Given the description of an element on the screen output the (x, y) to click on. 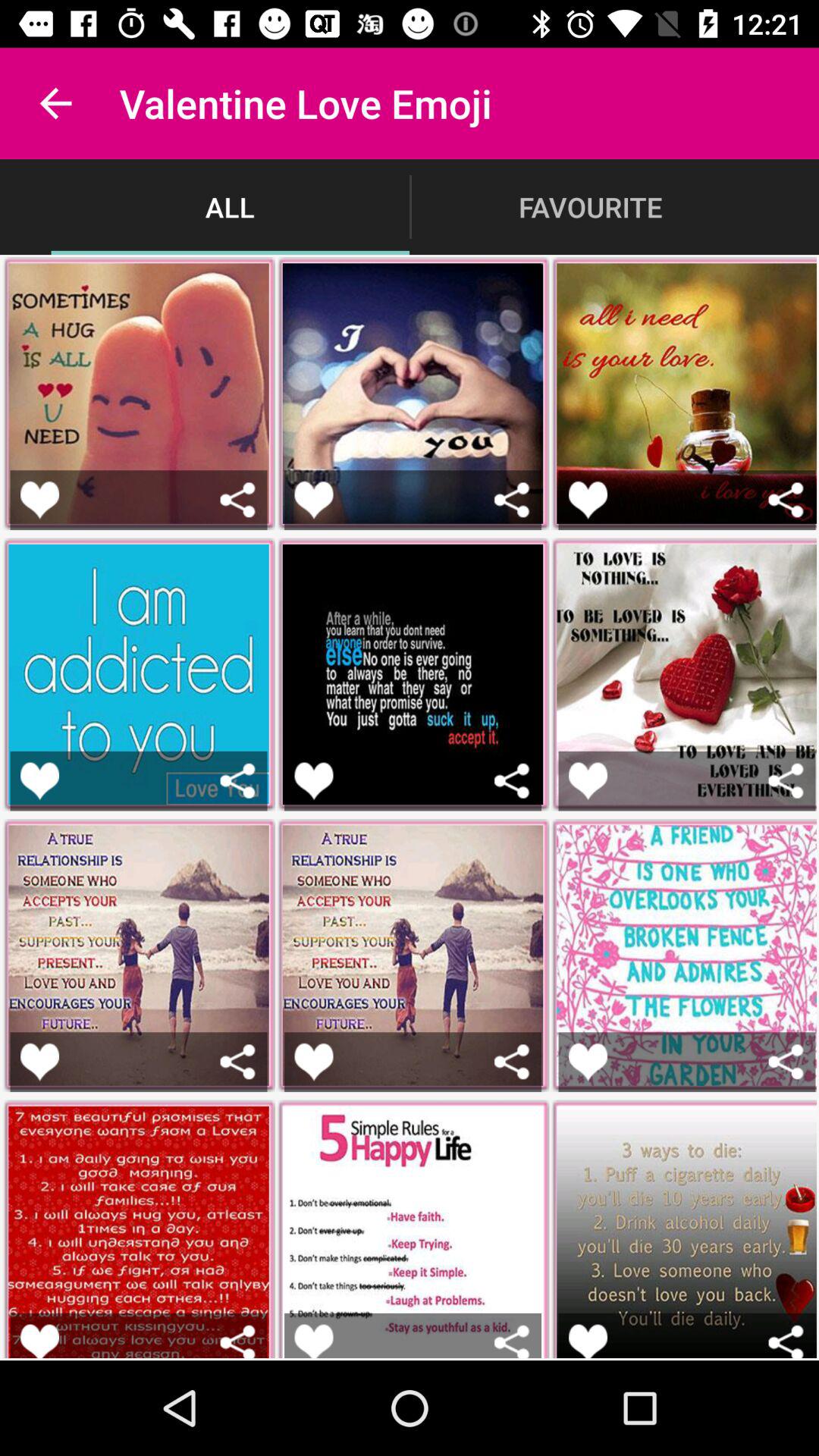
favorite the i love you hand sign (313, 499)
